Given the description of an element on the screen output the (x, y) to click on. 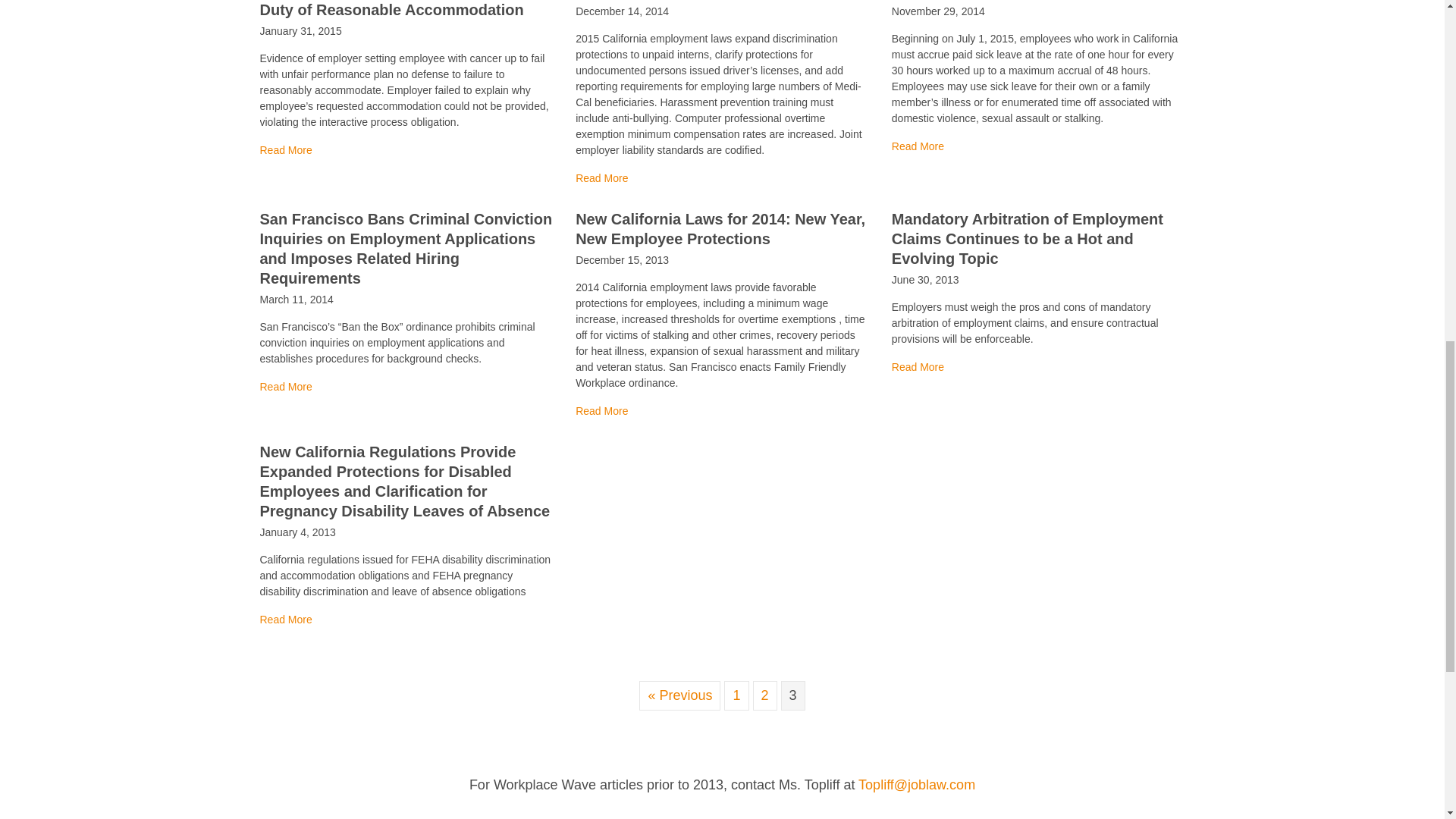
Read More (285, 619)
Read More (285, 619)
Read More (285, 386)
Read More (285, 150)
Read More (285, 386)
Read More (917, 146)
